Given the description of an element on the screen output the (x, y) to click on. 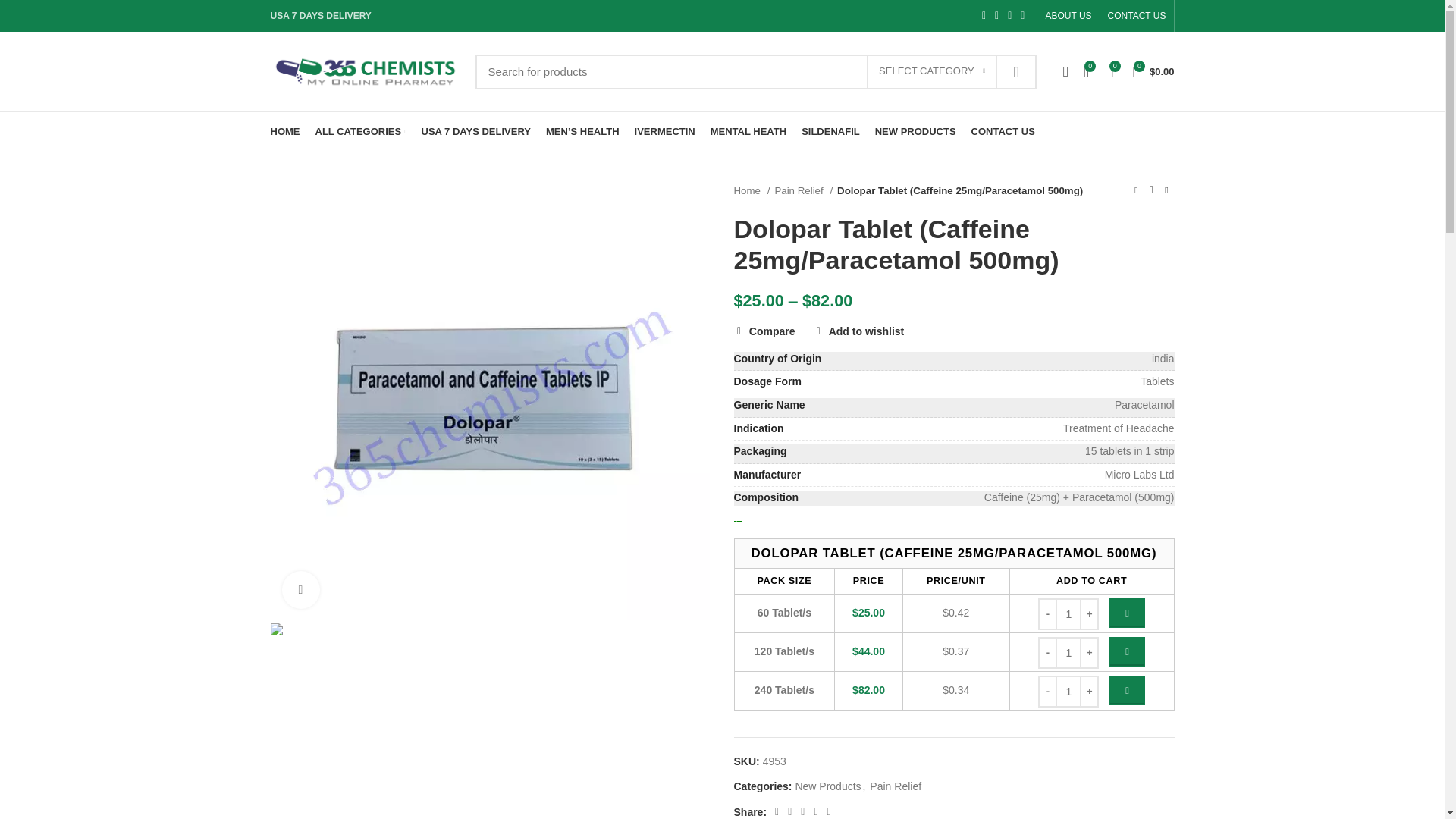
SELECT CATEGORY (931, 71)
Shopping cart (1153, 71)
SELECT CATEGORY (931, 71)
Search for products (755, 71)
ABOUT US (1067, 15)
CONTACT US (1136, 15)
